Given the description of an element on the screen output the (x, y) to click on. 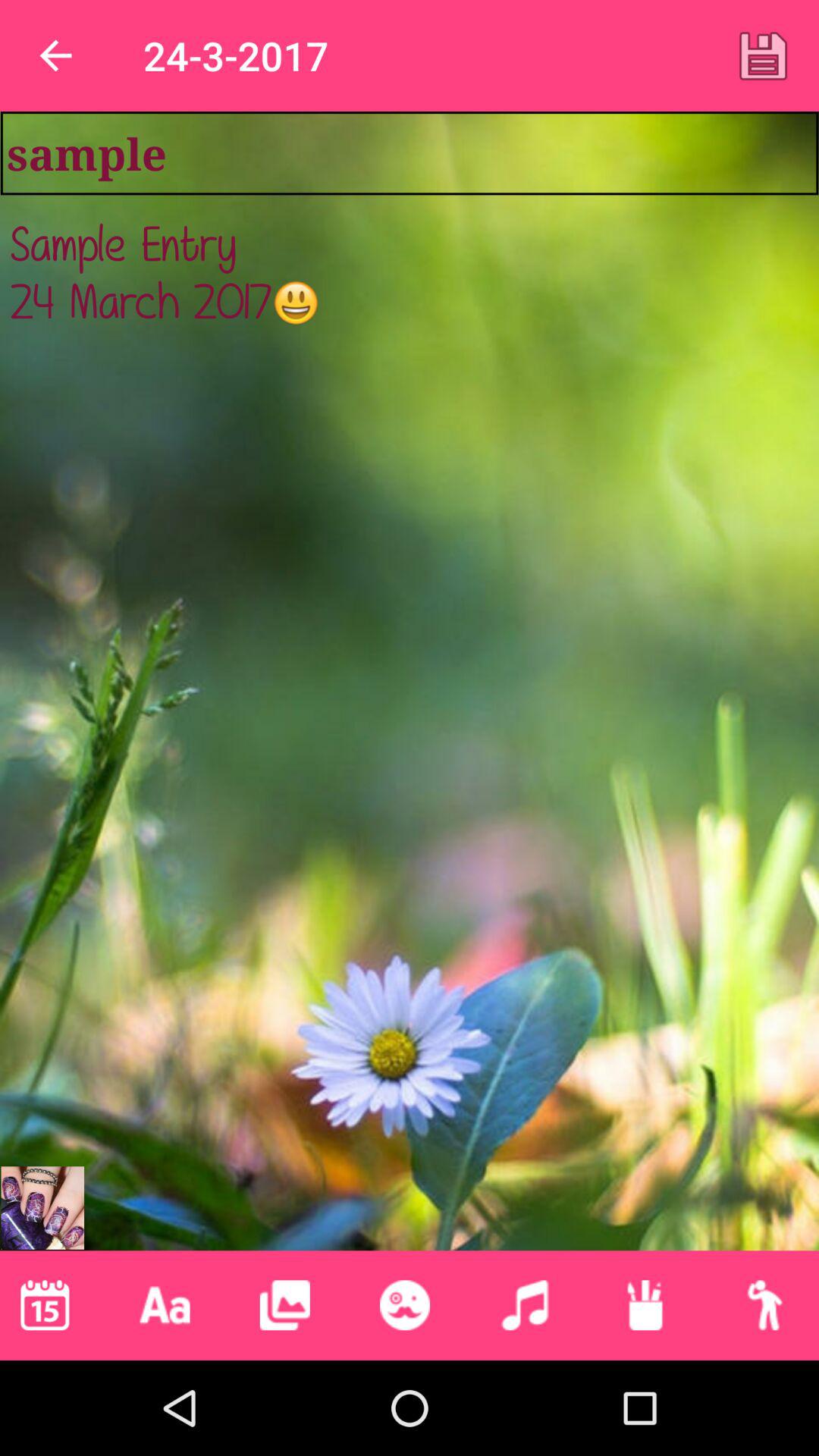
switch to music (524, 1305)
